Given the description of an element on the screen output the (x, y) to click on. 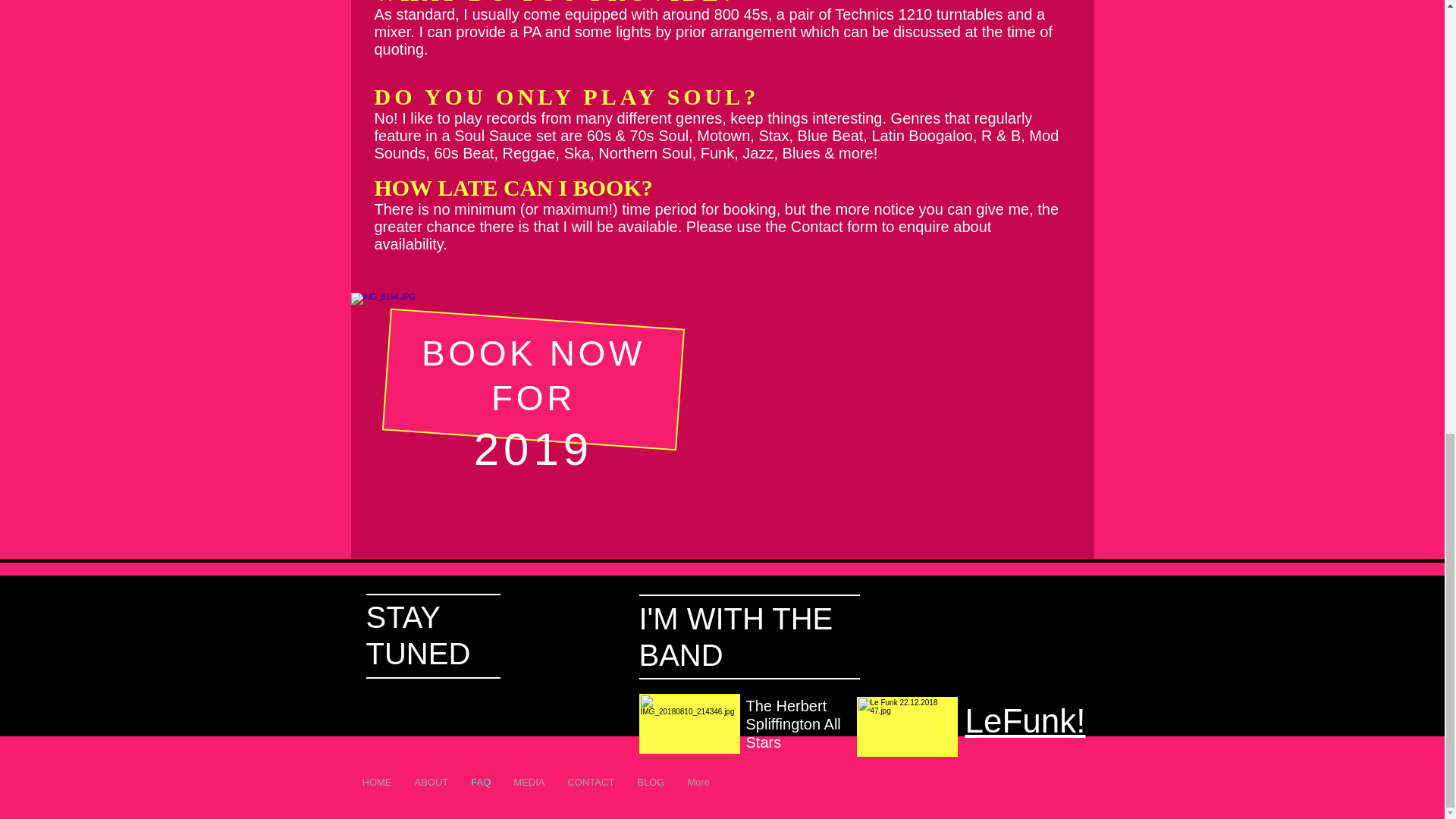
ABOUT (431, 787)
BLOG (650, 787)
CONTACT (591, 787)
HOME (376, 787)
LeFunk! (1023, 720)
MEDIA (529, 787)
FAQ (481, 787)
